Given the description of an element on the screen output the (x, y) to click on. 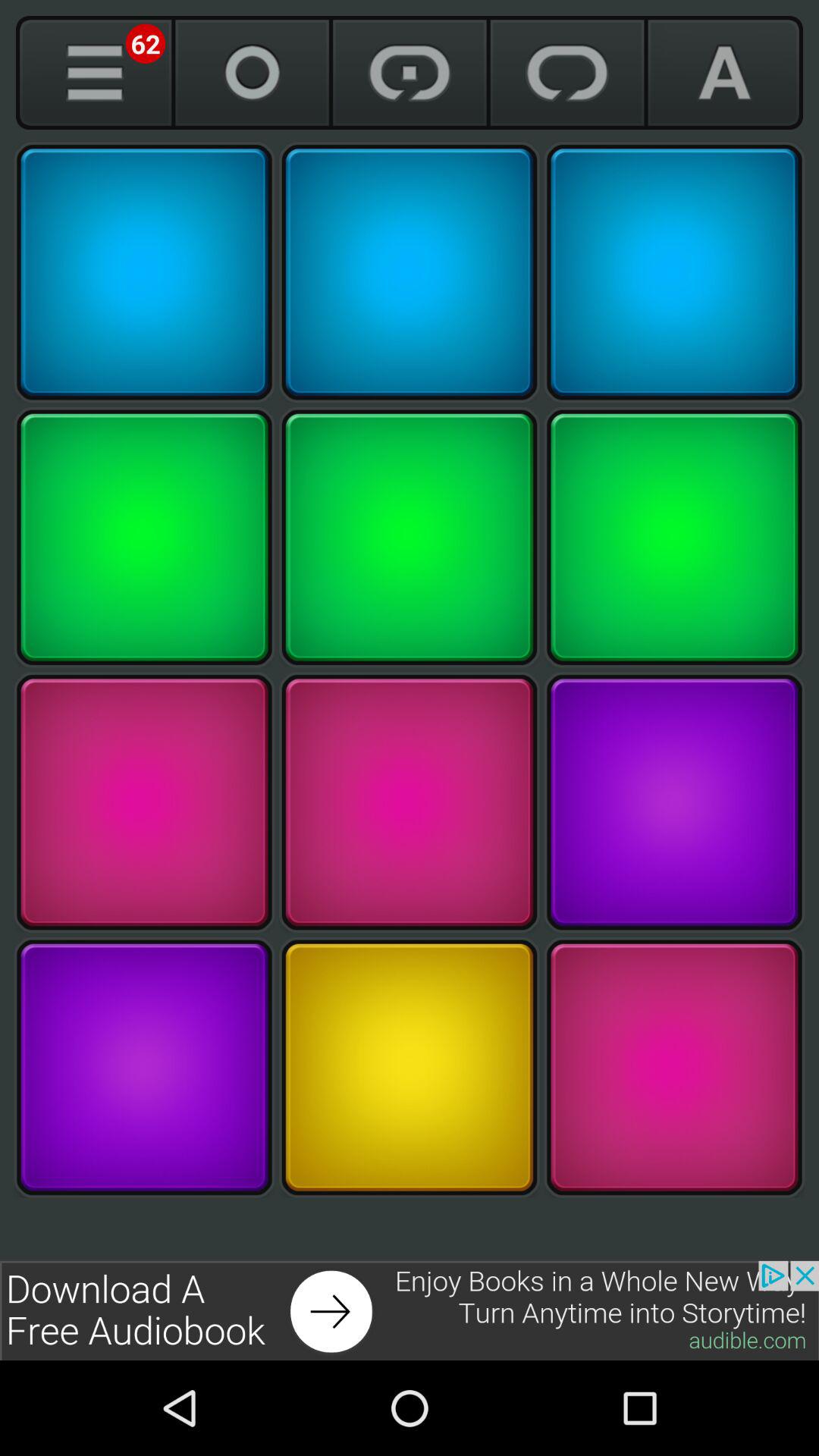
discover this beat (409, 272)
